Given the description of an element on the screen output the (x, y) to click on. 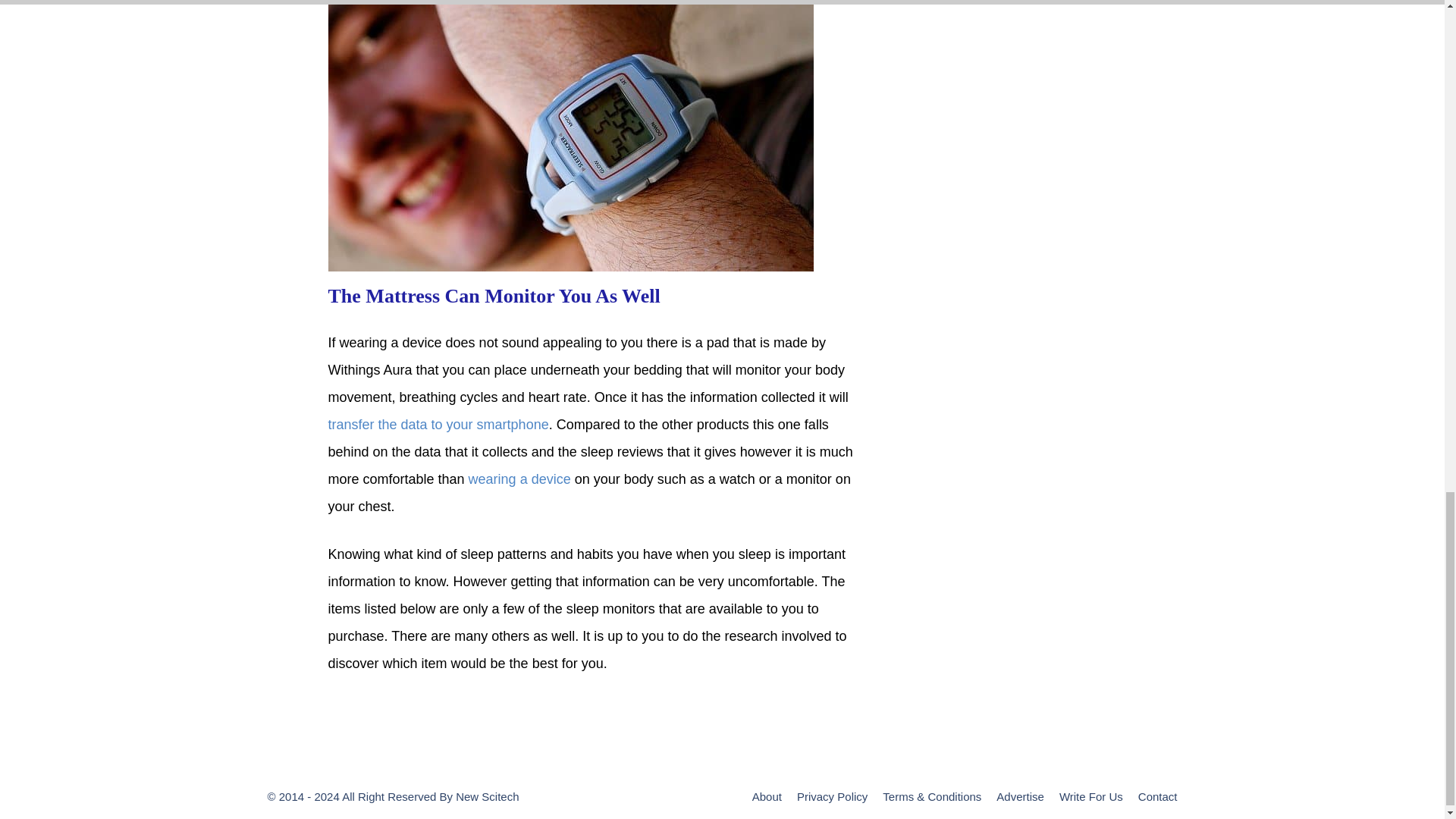
Big Data Can Help To Predict And Cope With Climate Change  (437, 424)
Scroll back to top (1406, 282)
